Given the description of an element on the screen output the (x, y) to click on. 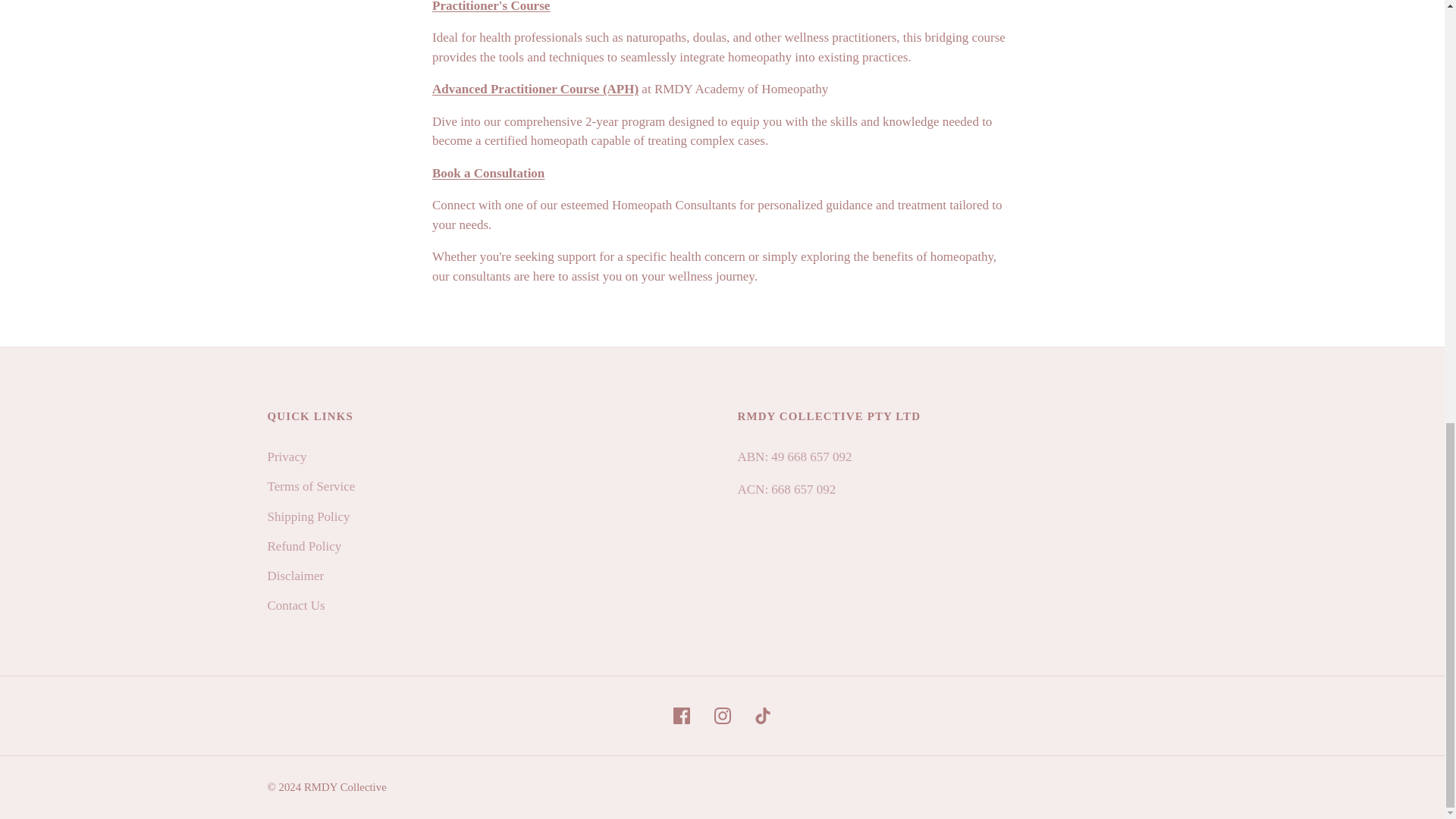
Book a Consultation (488, 173)
Shipping Policy (307, 515)
Disclaimer (294, 575)
Refund Policy (303, 545)
A practitioners guide to homeopathy in practice (491, 6)
Practitioner's Course (491, 6)
Terms of Service (310, 486)
Contact Us (295, 605)
Our Directory (488, 173)
Privacy (285, 456)
